Given the description of an element on the screen output the (x, y) to click on. 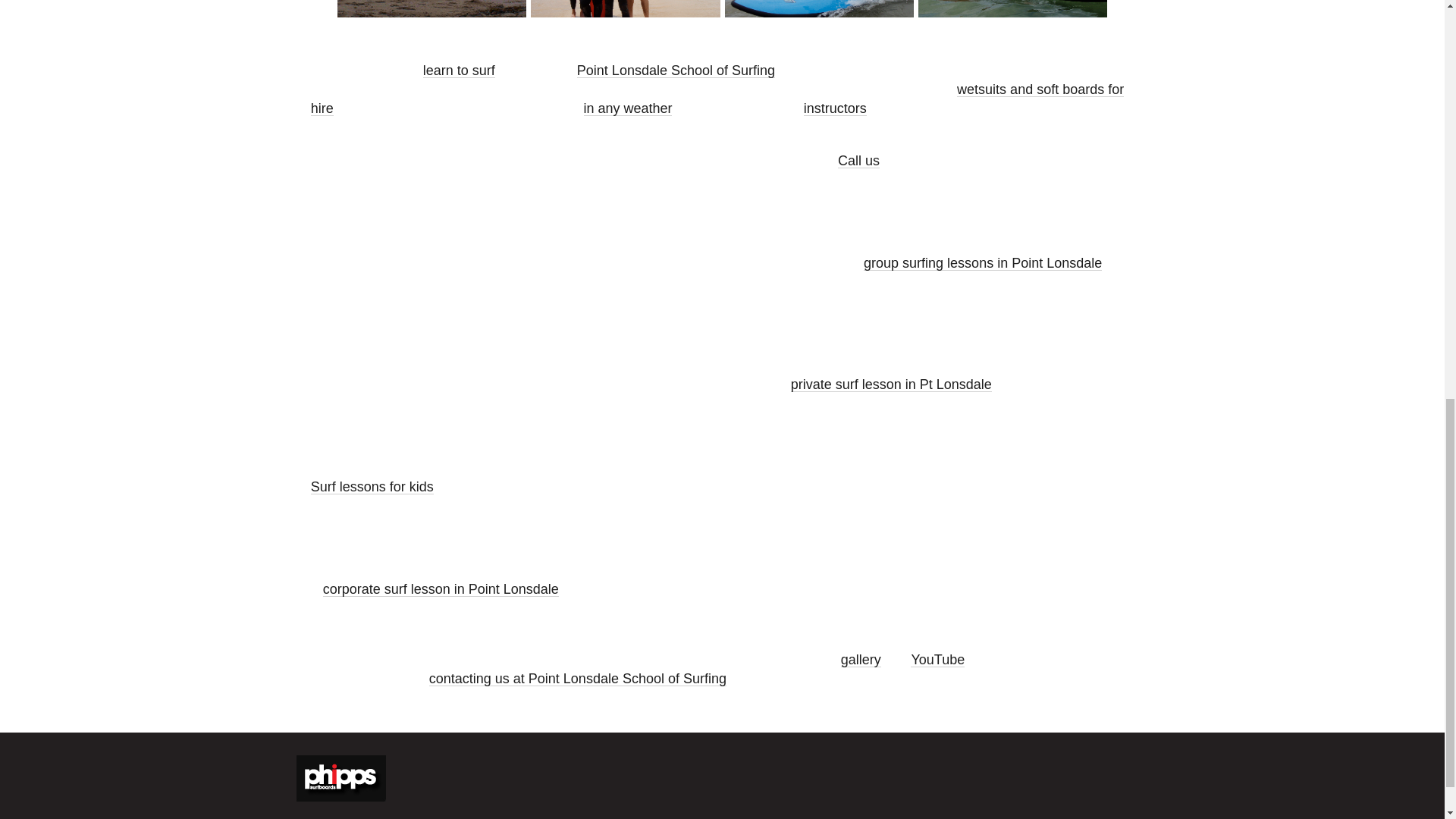
KIDS (819, 14)
CORPORATE (431, 14)
GROUP (625, 14)
